Given the description of an element on the screen output the (x, y) to click on. 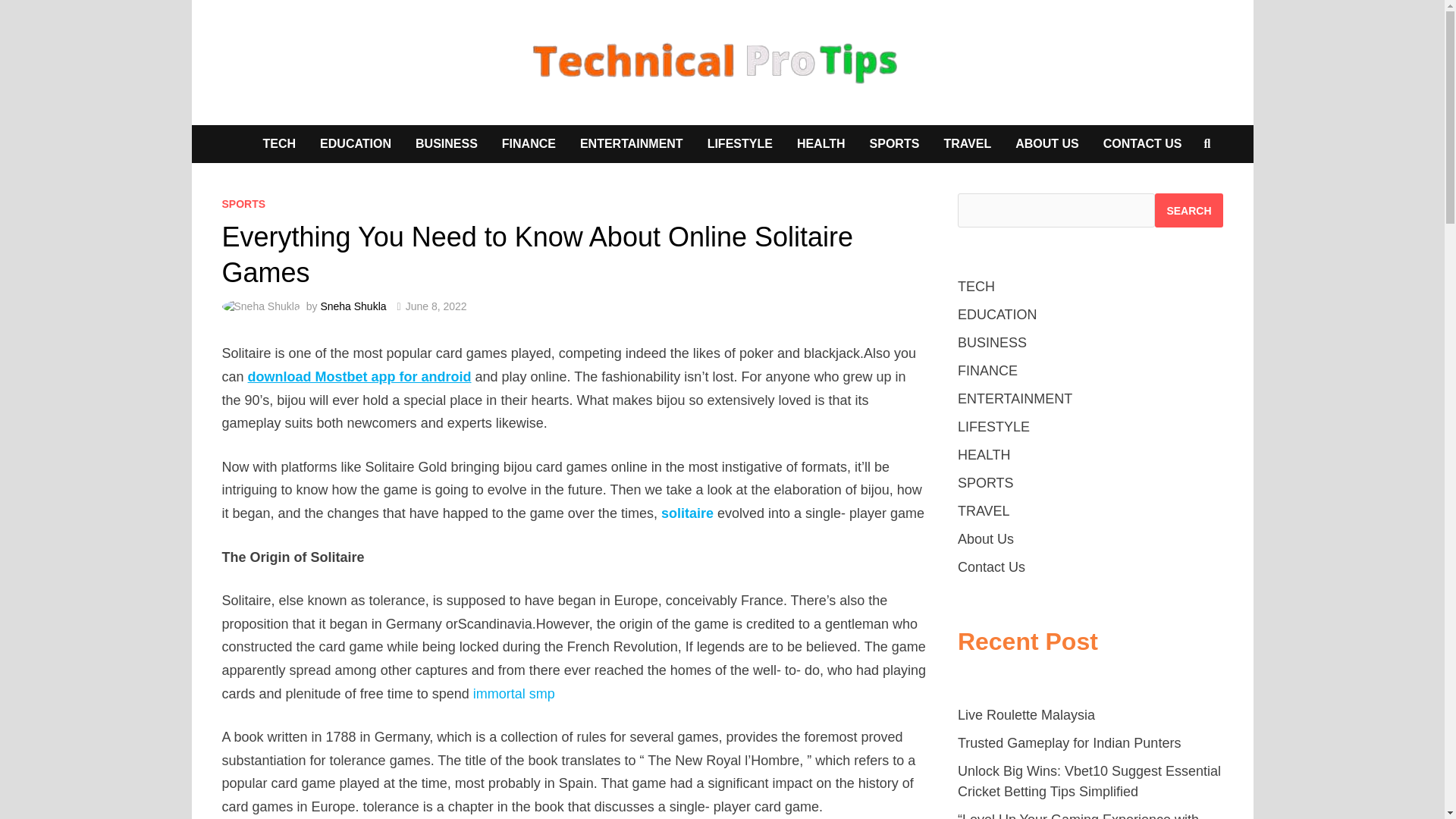
solitaire (687, 513)
BUSINESS (446, 143)
TRAVEL (967, 143)
TECH (279, 143)
CONTACT US (1141, 143)
SPORTS (242, 203)
FINANCE (528, 143)
ABOUT US (1046, 143)
ENTERTAINMENT (631, 143)
June 8, 2022 (436, 306)
immortal smp (513, 693)
HEALTH (820, 143)
Sneha Shukla (352, 306)
EDUCATION (355, 143)
download Mostbet app for android (359, 376)
